Given the description of an element on the screen output the (x, y) to click on. 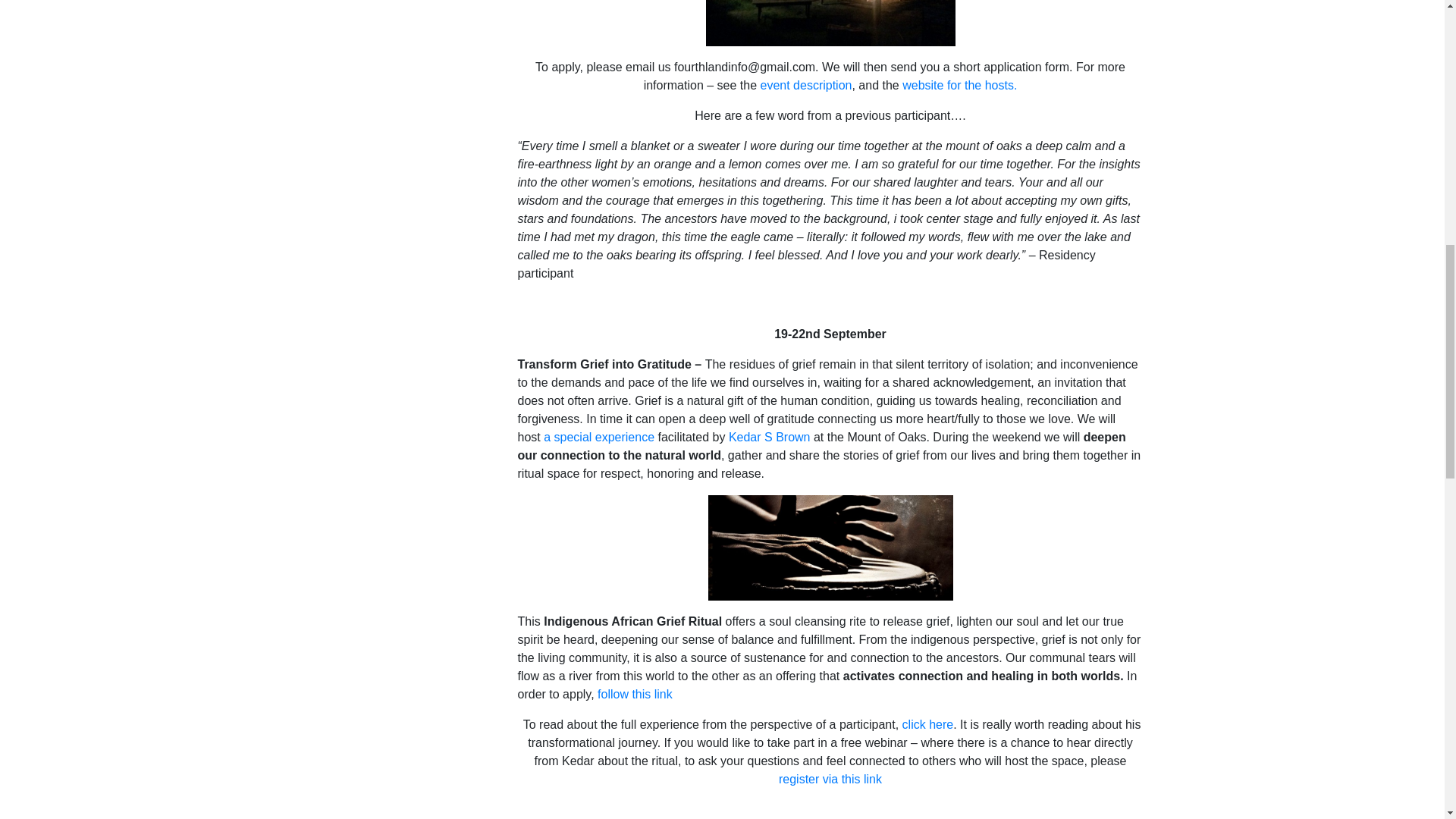
website for the hosts. (959, 84)
click here (927, 724)
a special experience (598, 436)
event description (805, 84)
follow this link (634, 694)
Kedar S Brown (769, 436)
register via this link (830, 779)
